Given the description of an element on the screen output the (x, y) to click on. 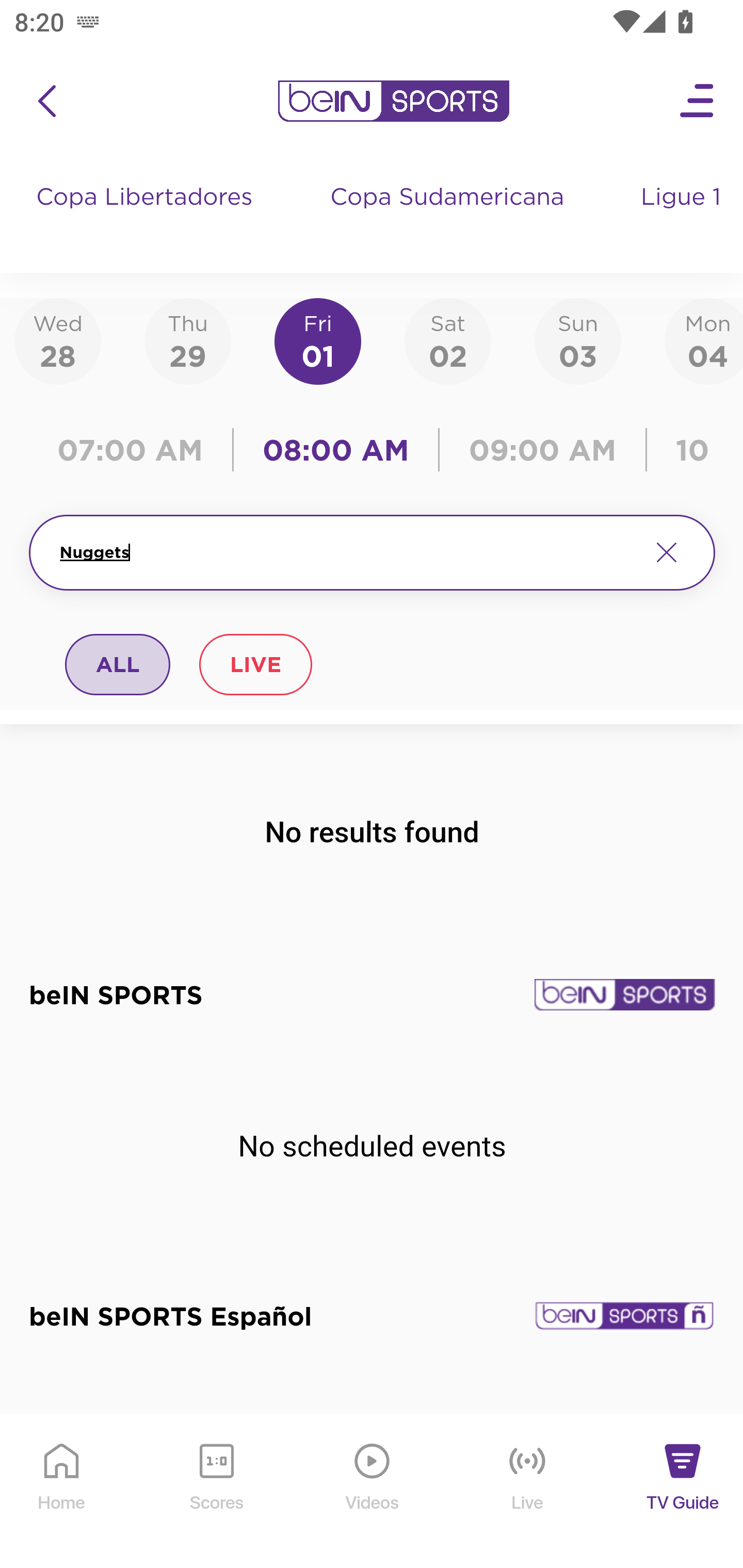
en-us?platform=mobile_android bein logo (392, 101)
icon back (46, 101)
Open Menu Icon (697, 101)
Copa Libertadores (146, 216)
Copa Sudamericana (448, 216)
Ligue 1 (682, 216)
Wed28 (58, 340)
Thu29 (187, 340)
Fri01 (318, 340)
Sat02 (447, 340)
Sun03 (578, 340)
Mon04 (703, 340)
07:00 AM (135, 449)
08:00 AM (336, 449)
09:00 AM (542, 449)
Nuggets (346, 552)
ALL (118, 663)
LIVE (255, 663)
Home Home Icon Home (61, 1491)
Scores Scores Icon Scores (216, 1491)
Videos Videos Icon Videos (372, 1491)
TV Guide TV Guide Icon TV Guide (682, 1491)
